Given the description of an element on the screen output the (x, y) to click on. 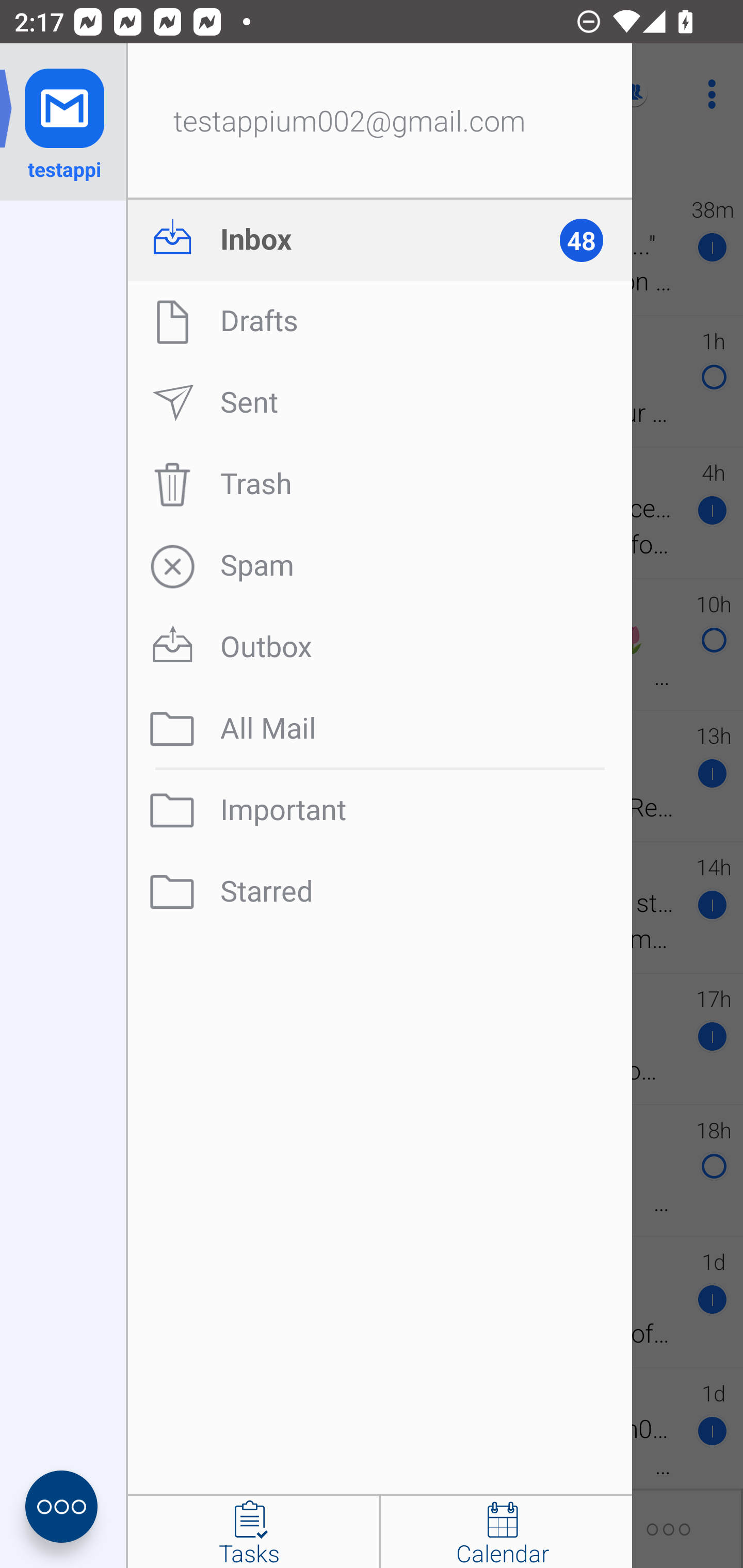
Navigate up (81, 93)
testappium002@gmail.com (379, 121)
Inbox 48 (379, 239)
48 (590, 239)
Drafts (379, 321)
Sent (379, 402)
Trash (379, 484)
Spam (379, 565)
Outbox (379, 647)
All Mail (379, 728)
Important (379, 810)
Starred (379, 891)
Tasks (252, 1531)
Calendar (506, 1531)
